Given the description of an element on the screen output the (x, y) to click on. 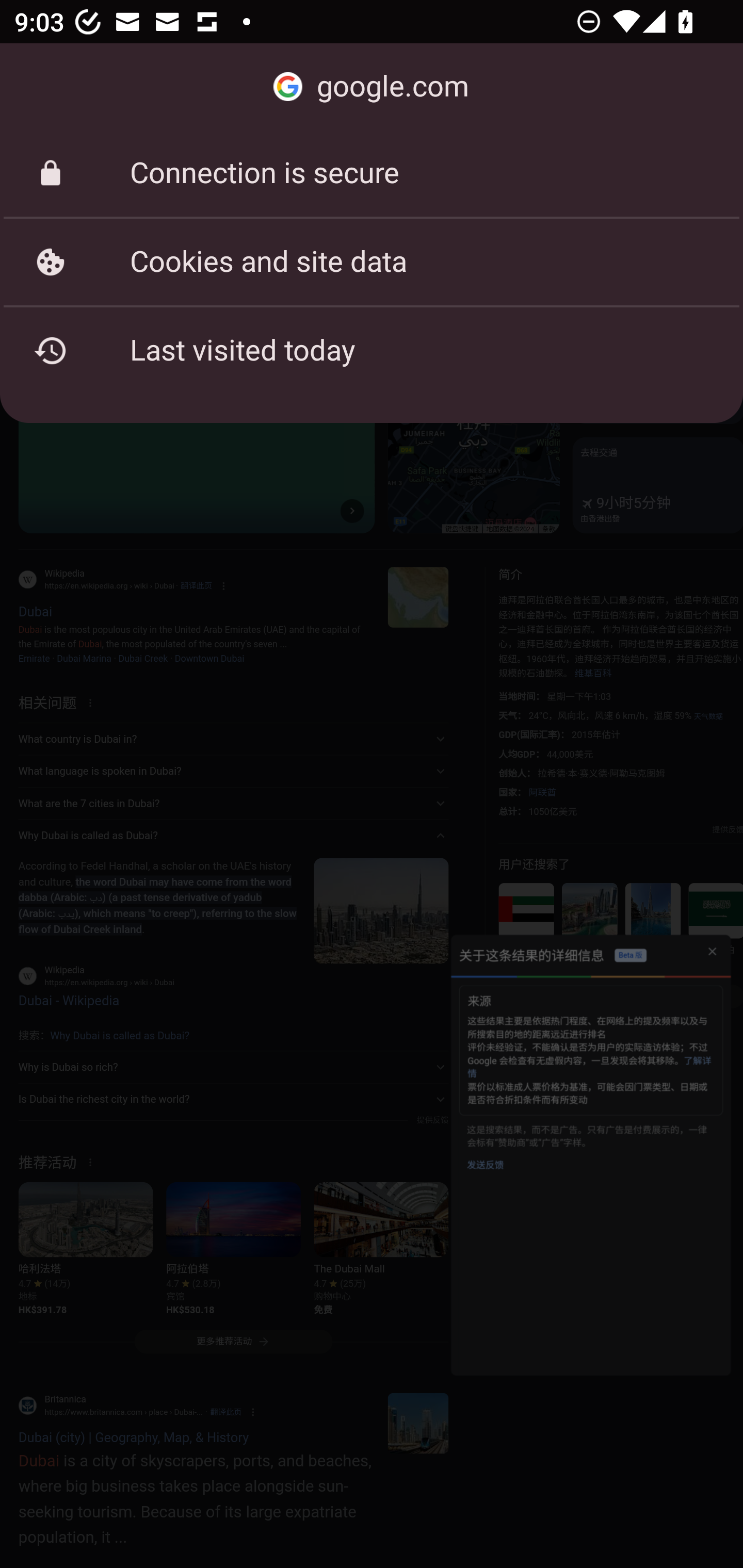
google.com (371, 86)
Connection is secure (371, 173)
Cookies and site data (371, 261)
Last visited today (371, 350)
